Given the description of an element on the screen output the (x, y) to click on. 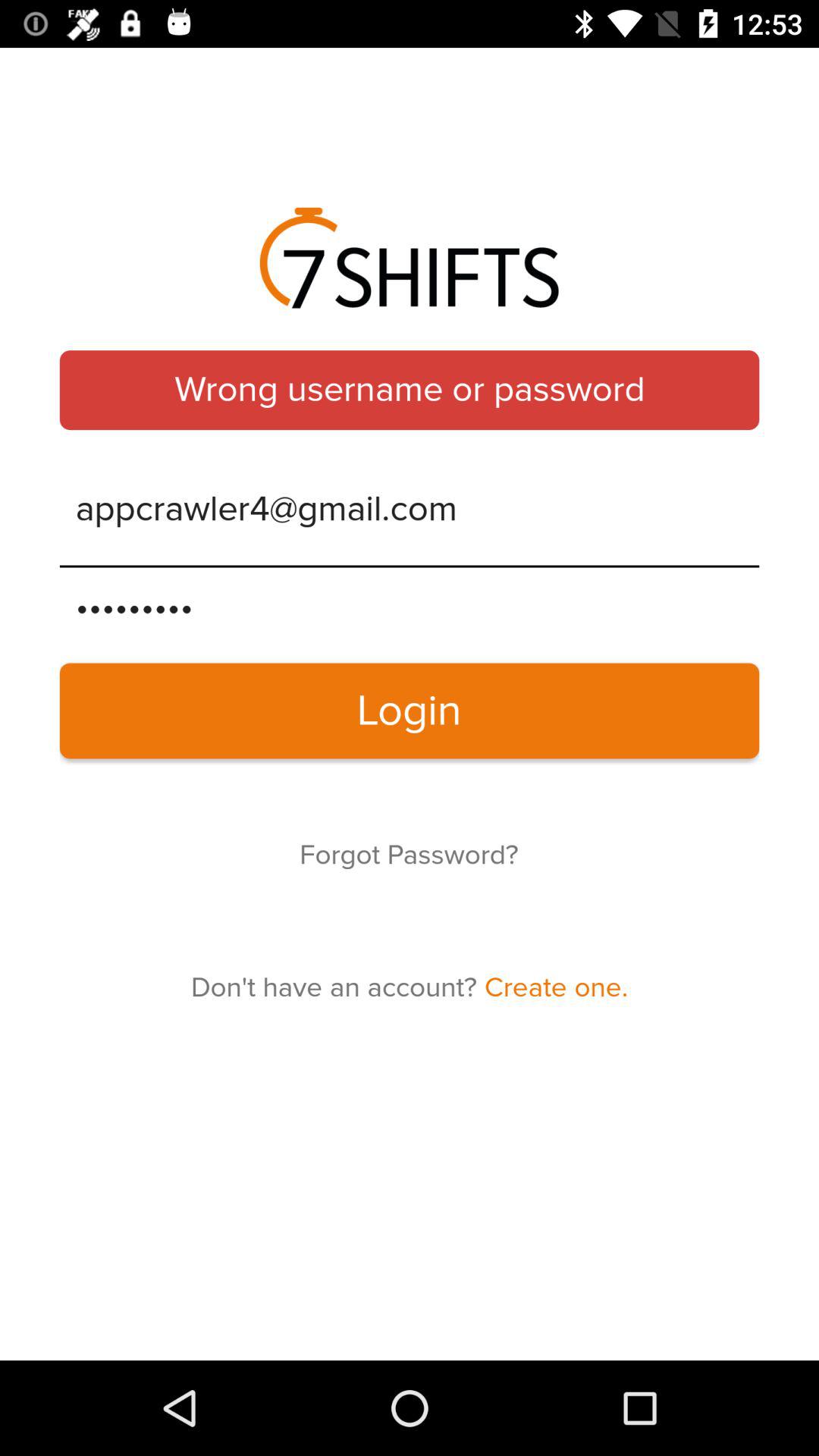
turn on item below wrong username or (409, 509)
